Given the description of an element on the screen output the (x, y) to click on. 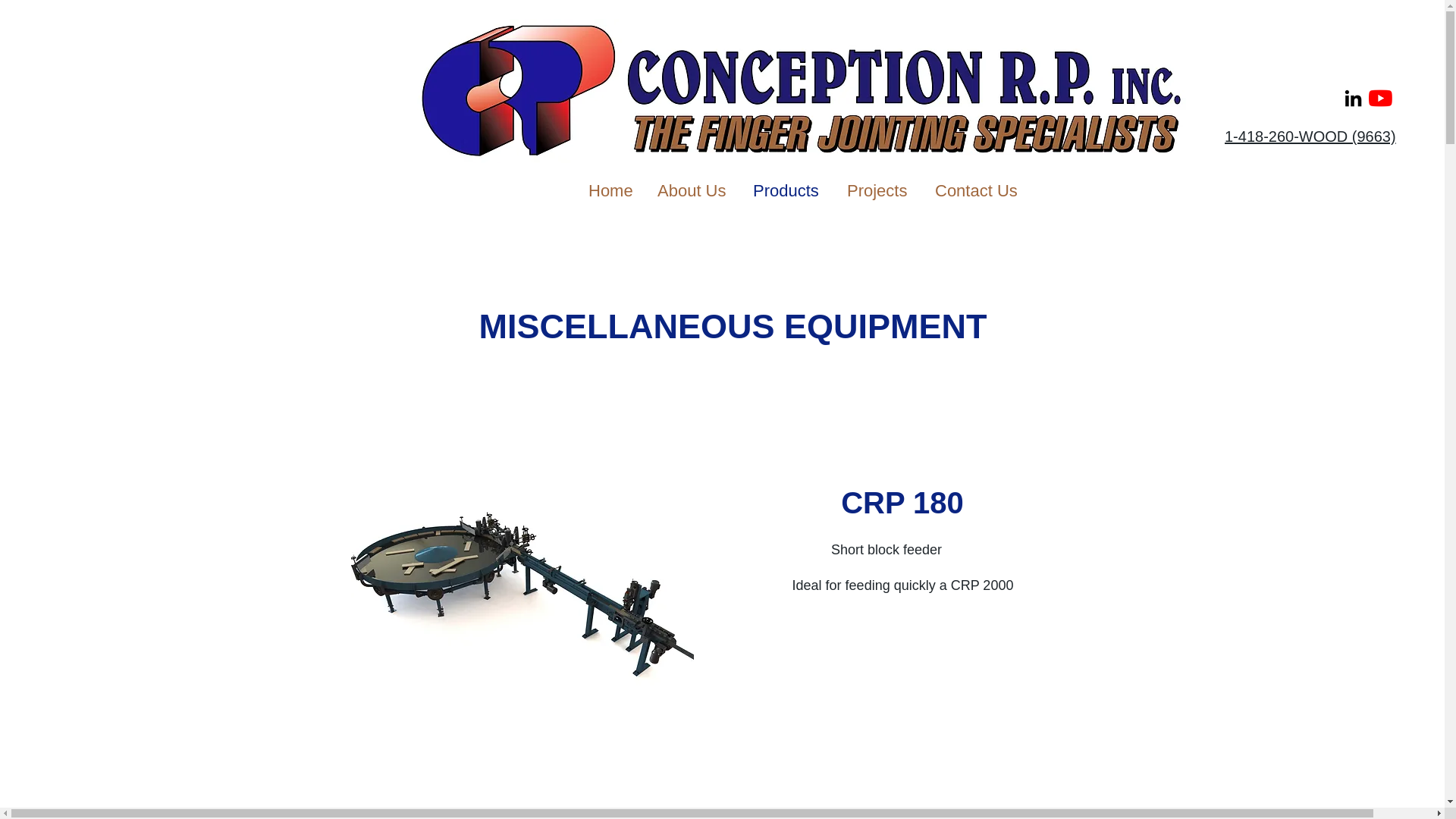
Products (788, 190)
Home (611, 190)
Contact Us (977, 190)
Projects (879, 190)
About Us (693, 190)
CRP 180 (902, 502)
